Given the description of an element on the screen output the (x, y) to click on. 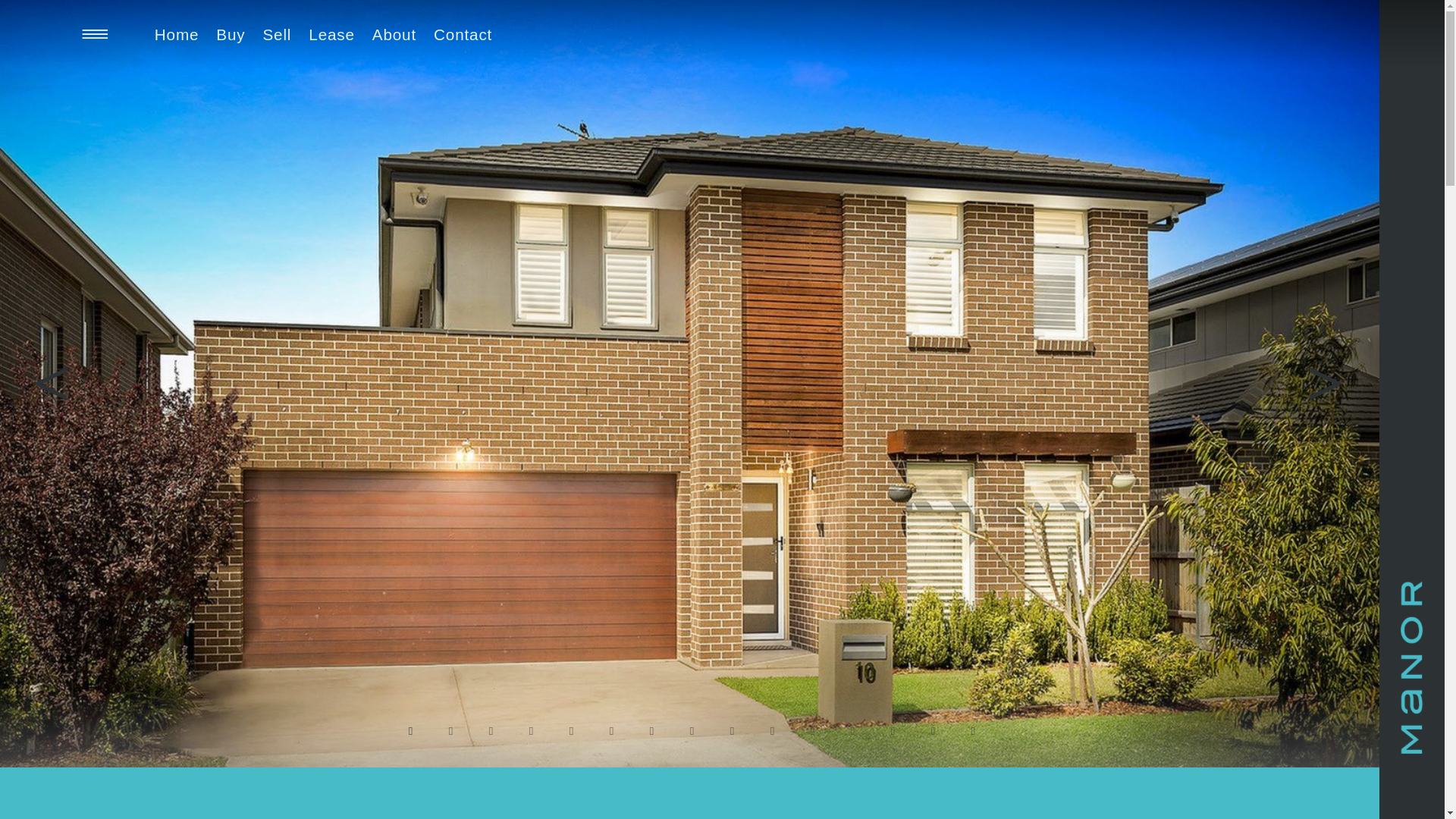
Home (177, 34)
Sell (277, 34)
Contact (462, 34)
Lease (331, 34)
About (394, 34)
Buy (230, 34)
Send Message (722, 449)
